Given the description of an element on the screen output the (x, y) to click on. 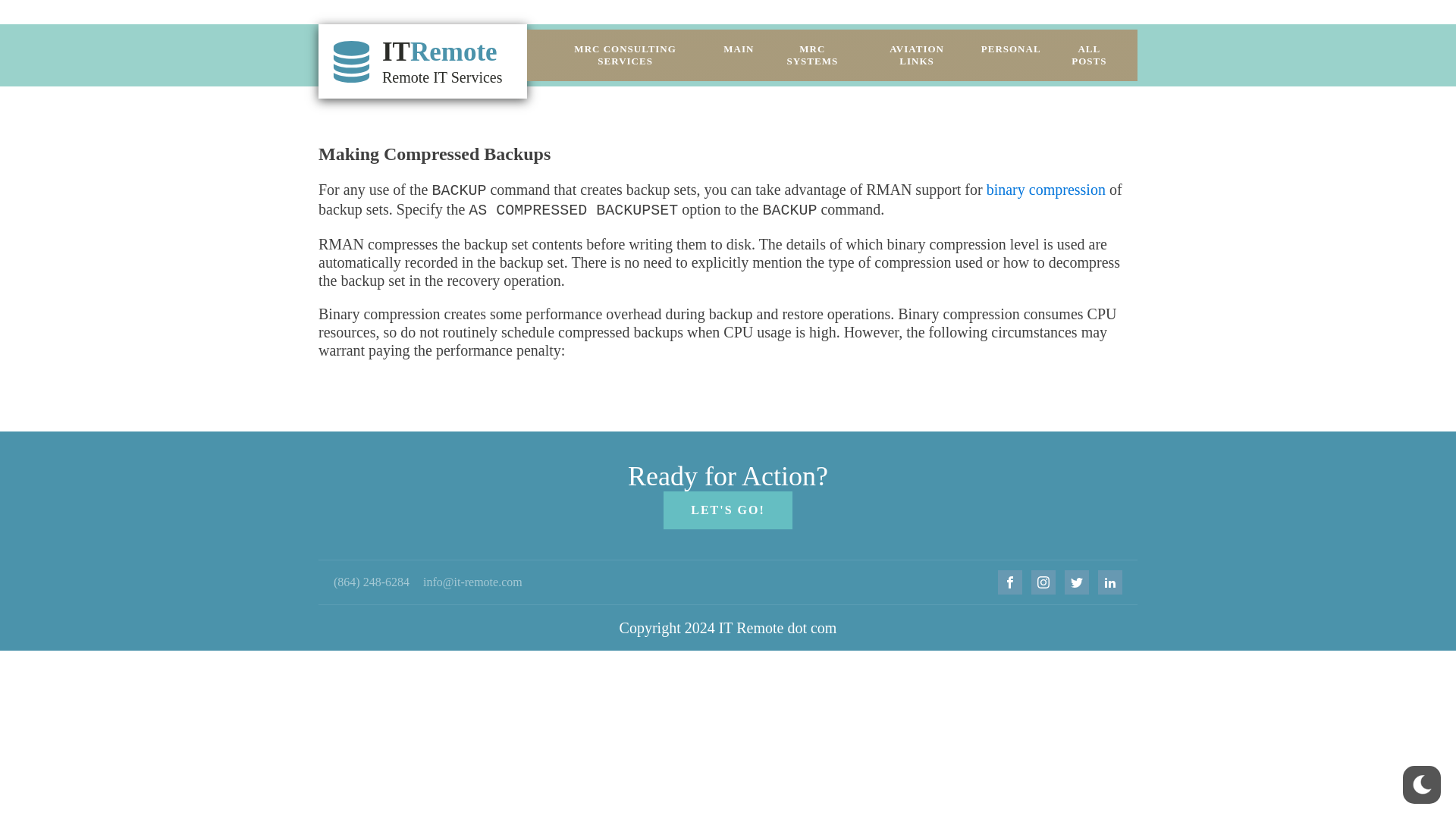
MRC SYSTEMS (811, 54)
MRC CONSULTING SERVICES (624, 54)
MAIN (738, 48)
